Given the description of an element on the screen output the (x, y) to click on. 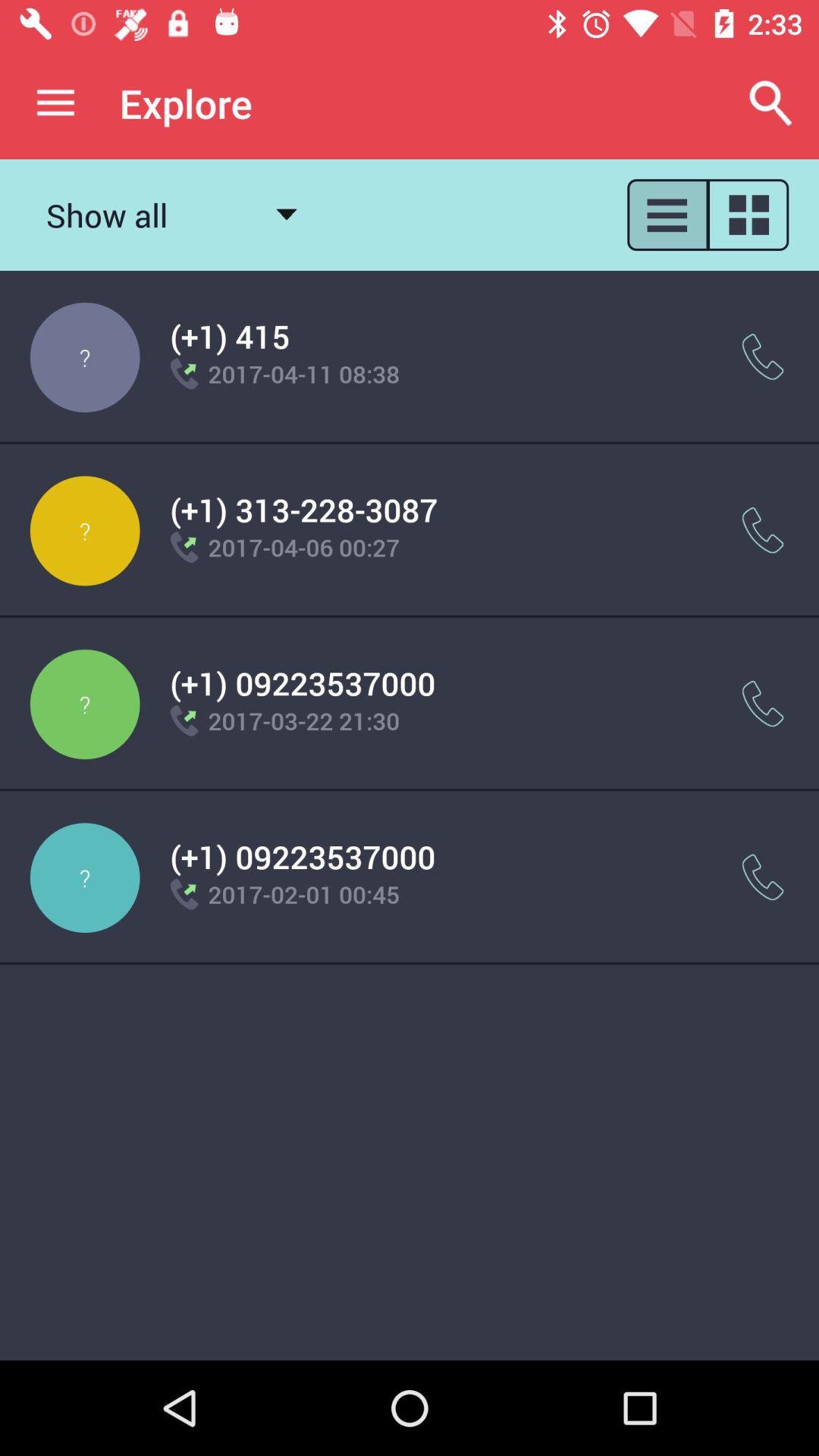
funo fazer ligao (762, 877)
